Given the description of an element on the screen output the (x, y) to click on. 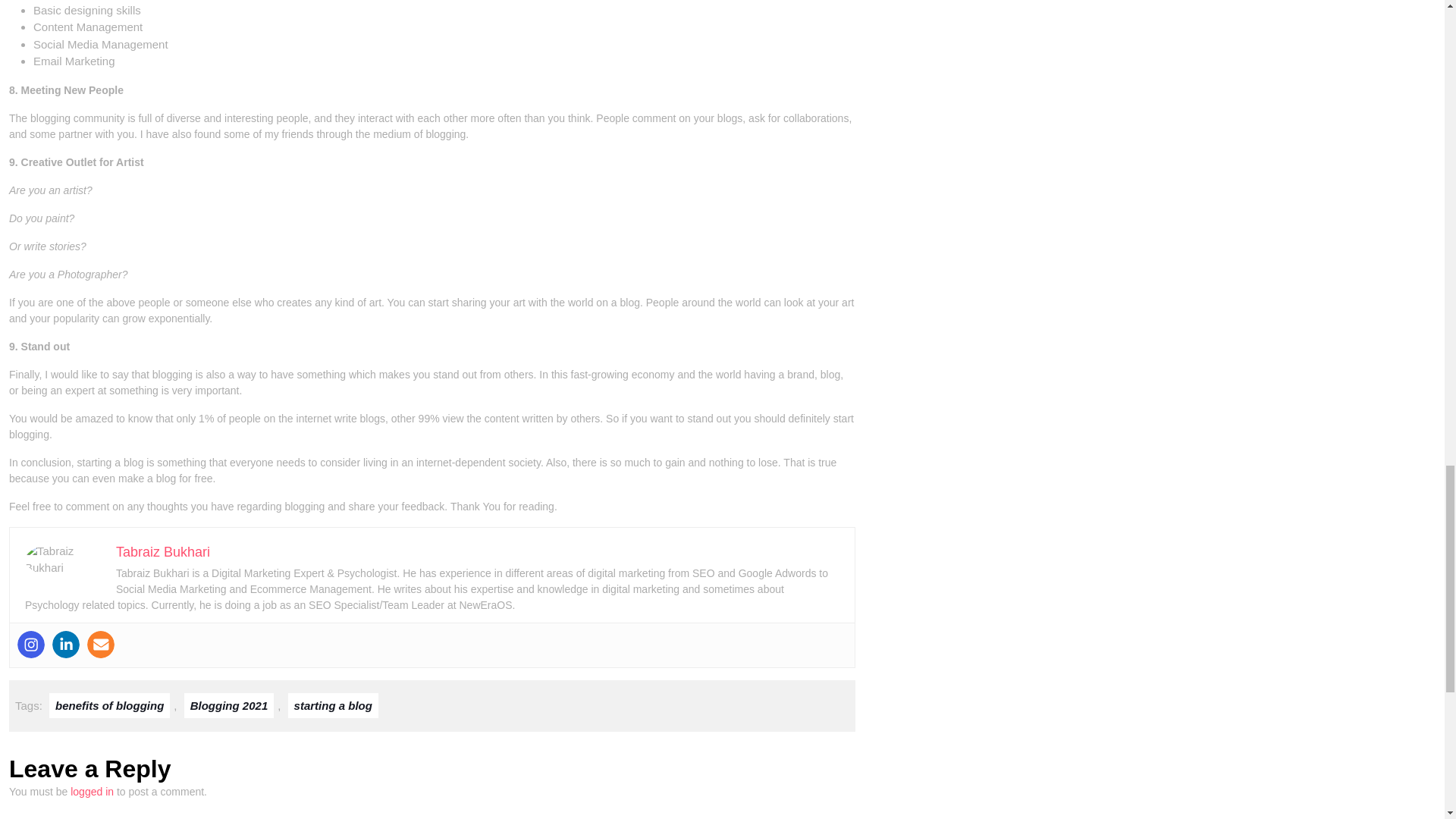
logged in (91, 791)
User email (101, 644)
Instagram (31, 644)
Linkedin (66, 644)
starting a blog (333, 705)
Tabraiz Bukhari (162, 551)
Blogging 2021 (229, 705)
benefits of blogging (109, 705)
